Given the description of an element on the screen output the (x, y) to click on. 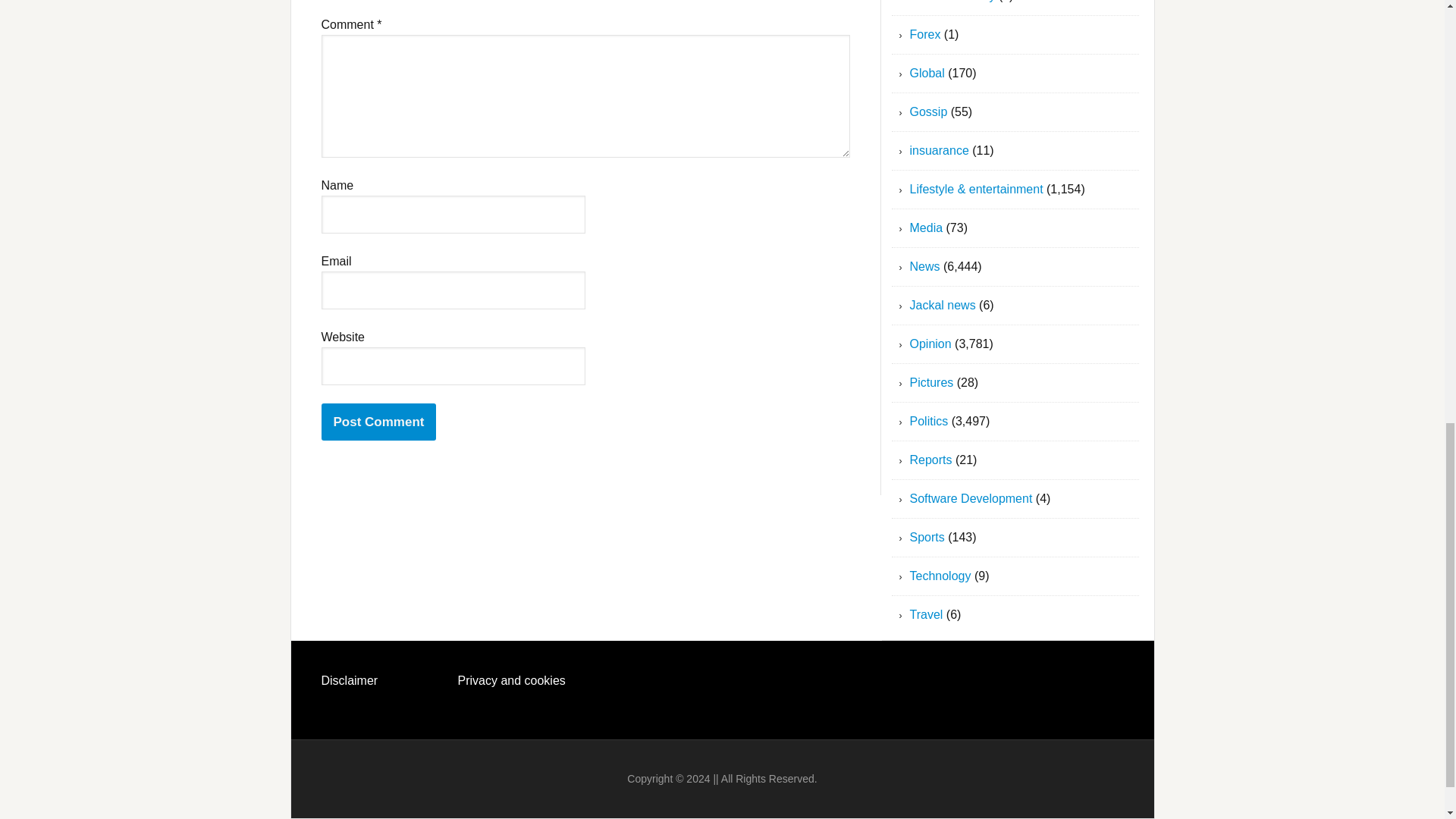
Pictures (931, 382)
insuarance (939, 150)
News (925, 266)
Post Comment (378, 421)
Gossip (928, 111)
Opinion (931, 343)
Politics (929, 420)
Jackal news (942, 305)
Media (926, 227)
Forex (925, 33)
Post Comment (378, 421)
Global (927, 72)
